Given the description of an element on the screen output the (x, y) to click on. 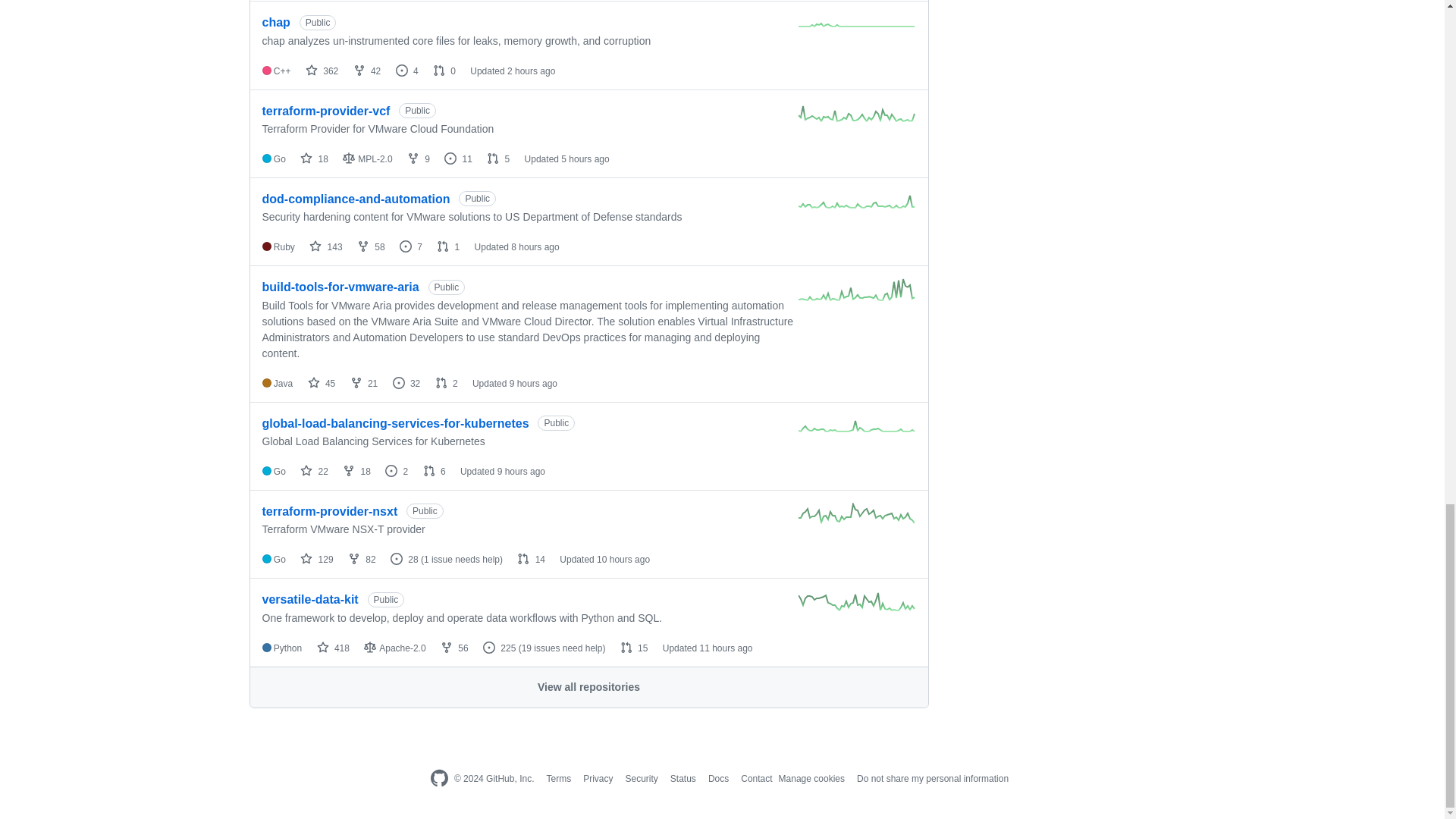
Label: Public (416, 110)
Label: Public (317, 22)
Label: Public (446, 287)
Label: Public (477, 198)
